Given the description of an element on the screen output the (x, y) to click on. 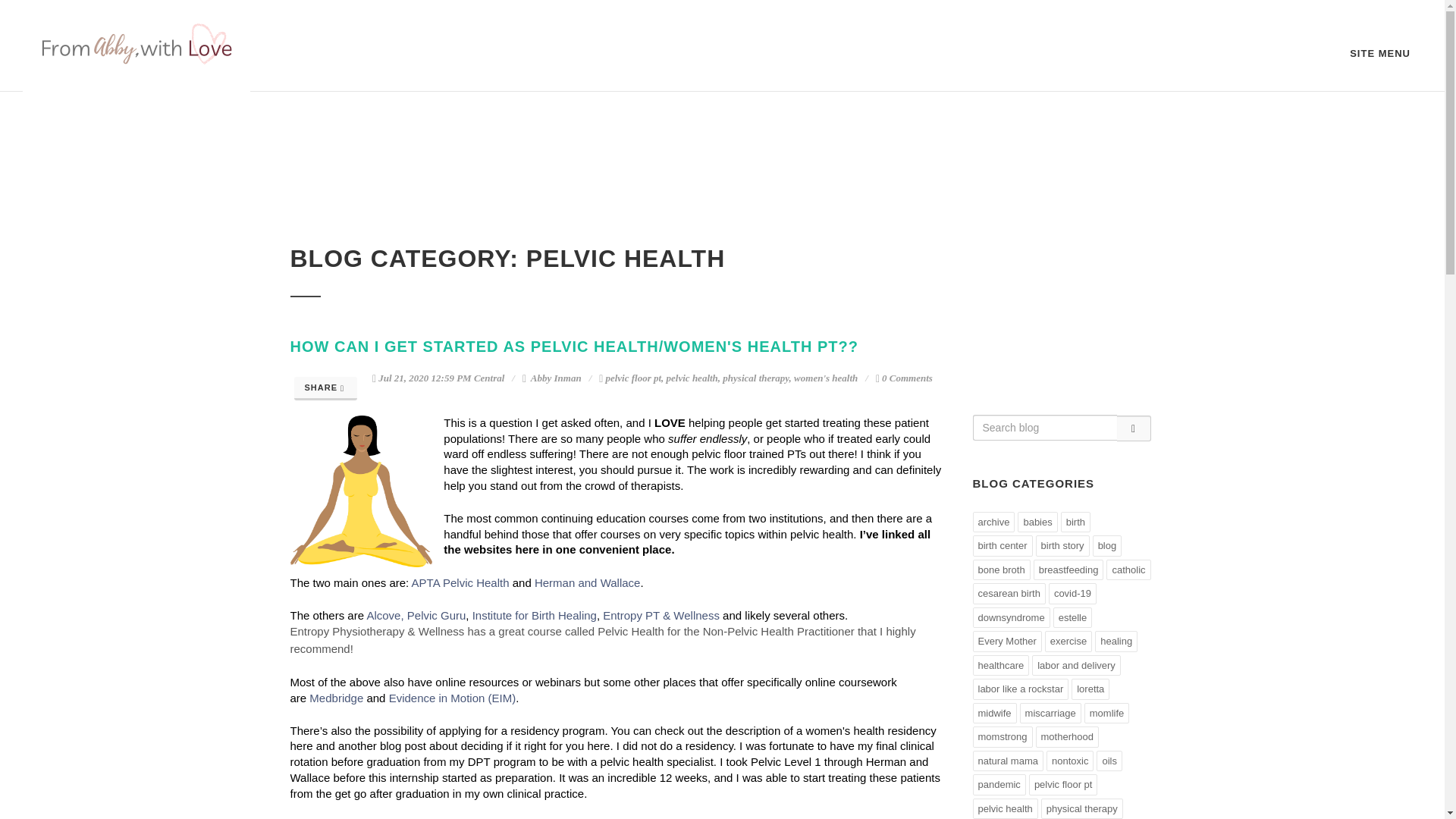
pelvic health (691, 378)
blog (1107, 545)
Alcove (383, 615)
Medbridge (335, 697)
about deciding if it right for you here (519, 745)
birth (1075, 521)
description of a women's health residency here (614, 737)
Herman and Wallace (587, 582)
APTA Pelvic Health (460, 582)
birth center (1002, 545)
